Given the description of an element on the screen output the (x, y) to click on. 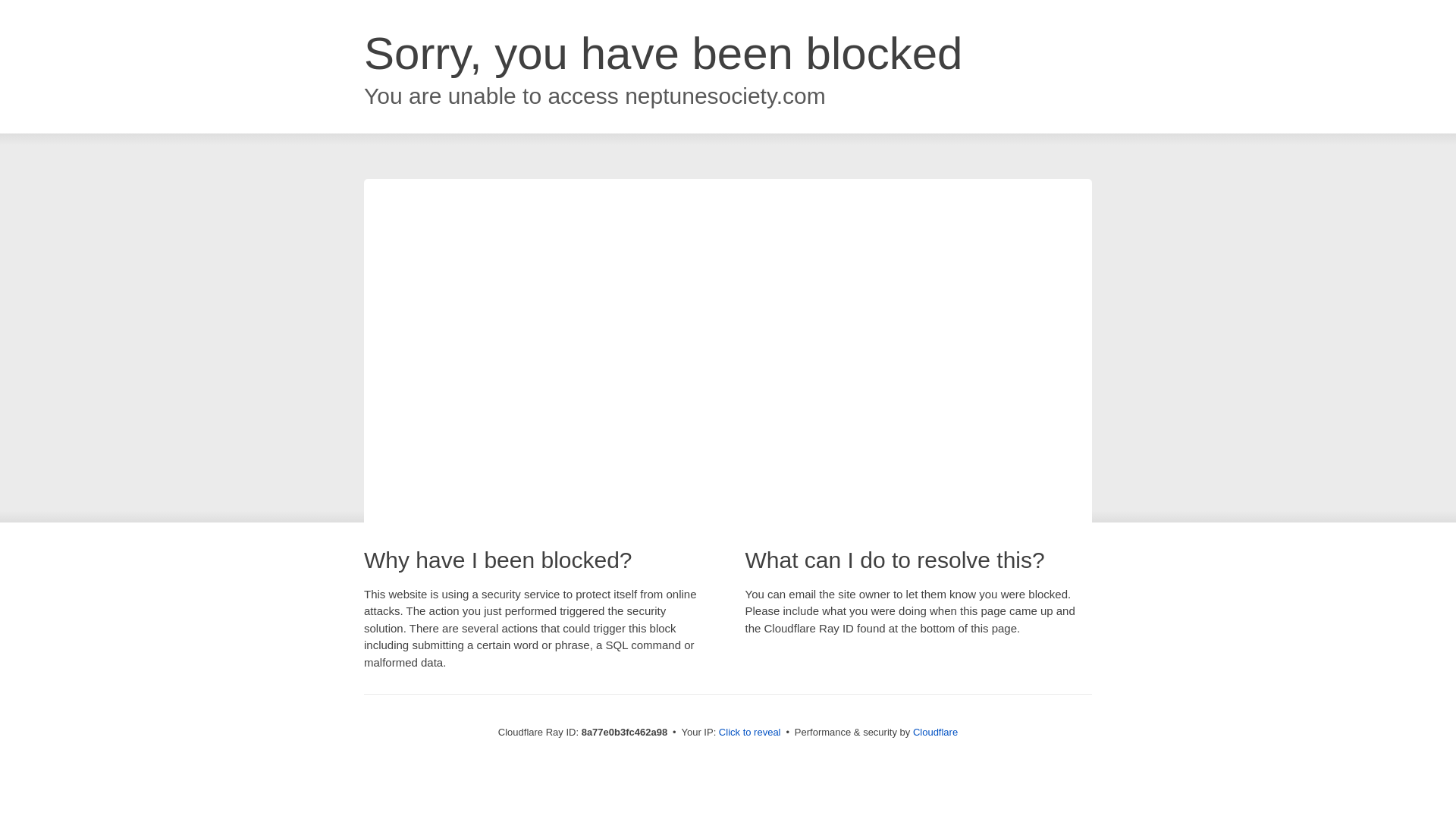
Cloudflare (935, 731)
Click to reveal (749, 732)
